Given the description of an element on the screen output the (x, y) to click on. 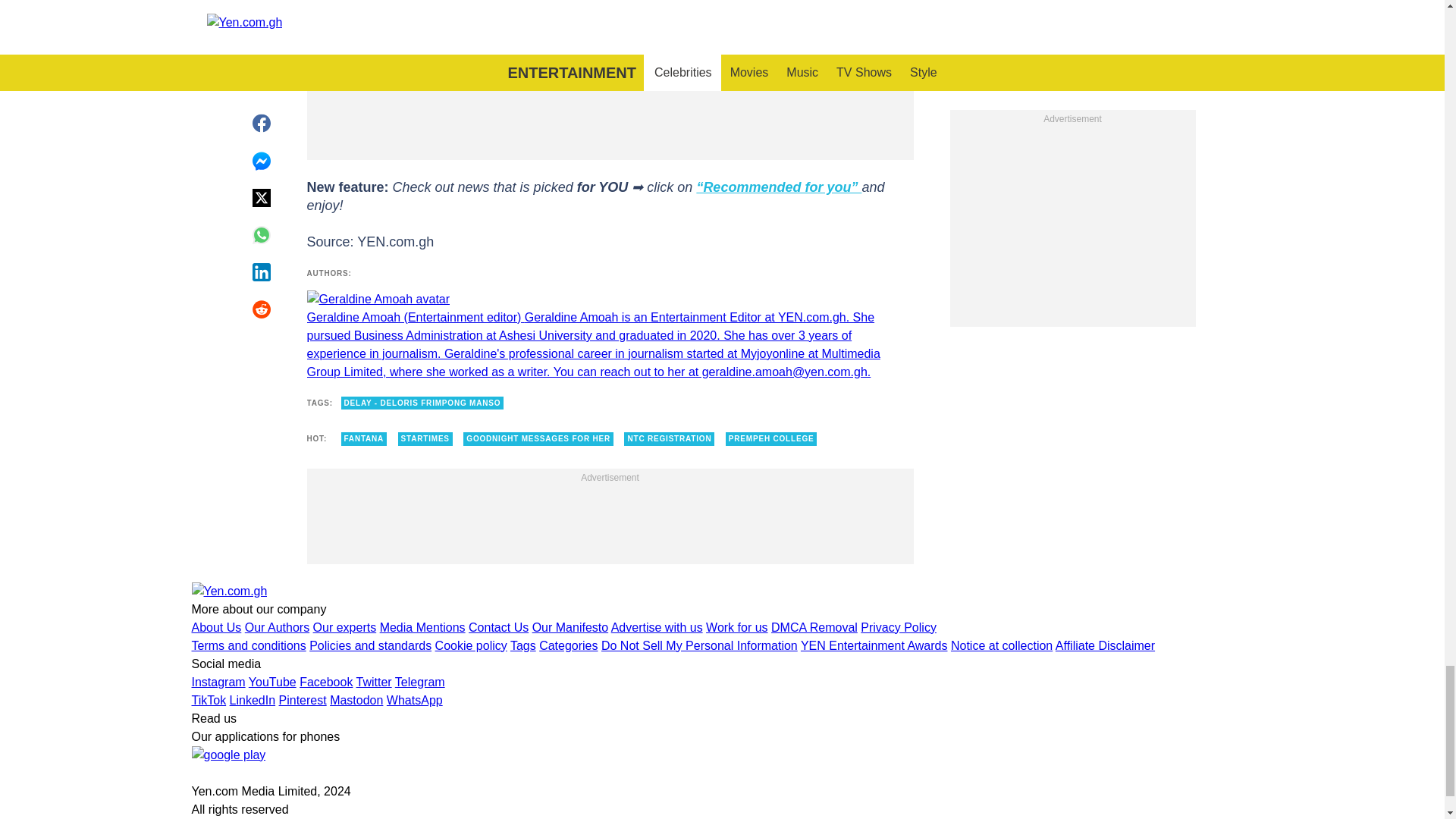
Author page (608, 335)
